Given the description of an element on the screen output the (x, y) to click on. 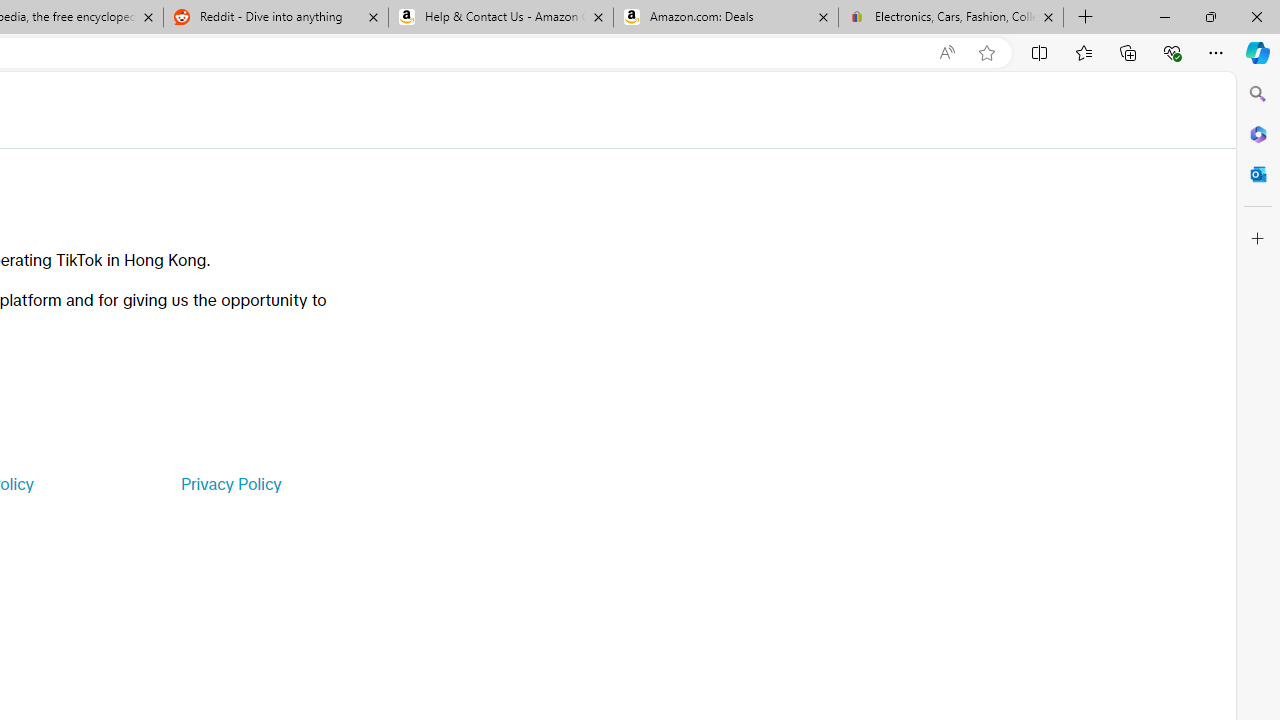
Privacy Policy (230, 484)
